Given the description of an element on the screen output the (x, y) to click on. 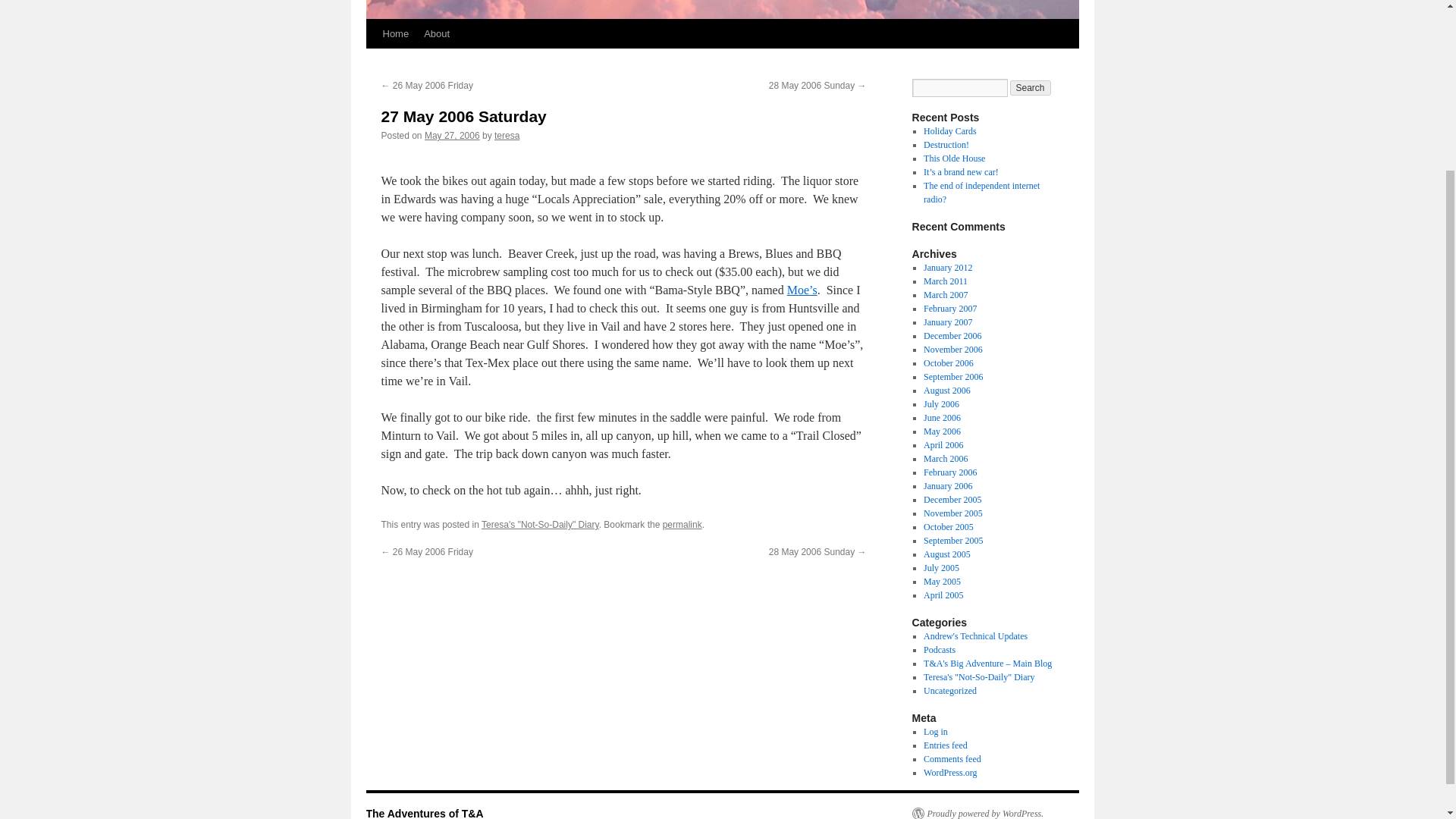
March 2007 (945, 294)
December 2005 (952, 499)
teresa (507, 135)
October 2006 (948, 362)
This Olde House (954, 158)
March 2006 (945, 458)
May 27, 2006 (452, 135)
January 2006 (947, 485)
Skip to content (372, 61)
About (436, 33)
January 2007 (947, 321)
September 2005 (952, 540)
June 2006 (941, 417)
February 2007 (949, 308)
November 2006 (952, 348)
